Given the description of an element on the screen output the (x, y) to click on. 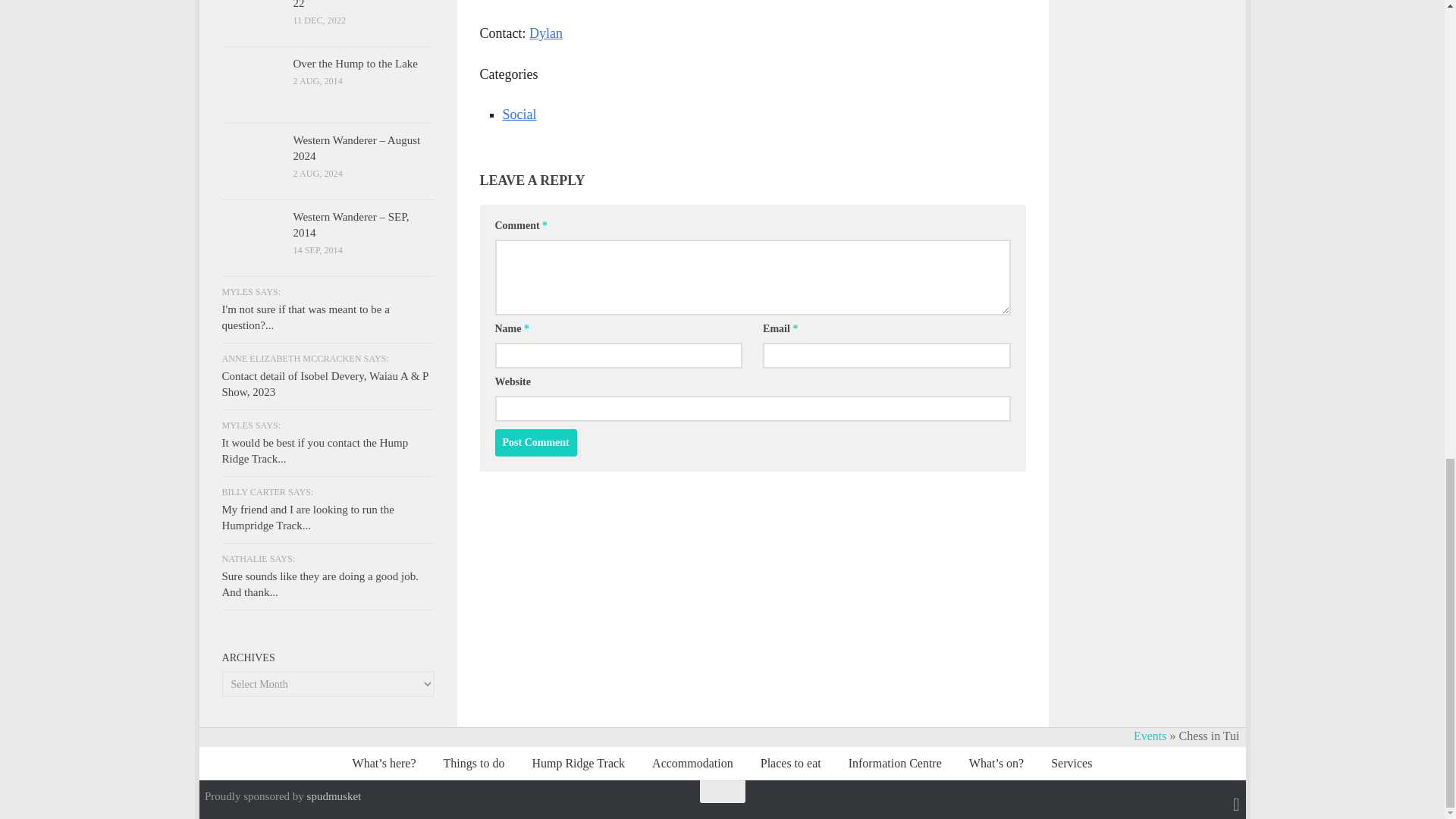
Post Comment (535, 442)
